Given the description of an element on the screen output the (x, y) to click on. 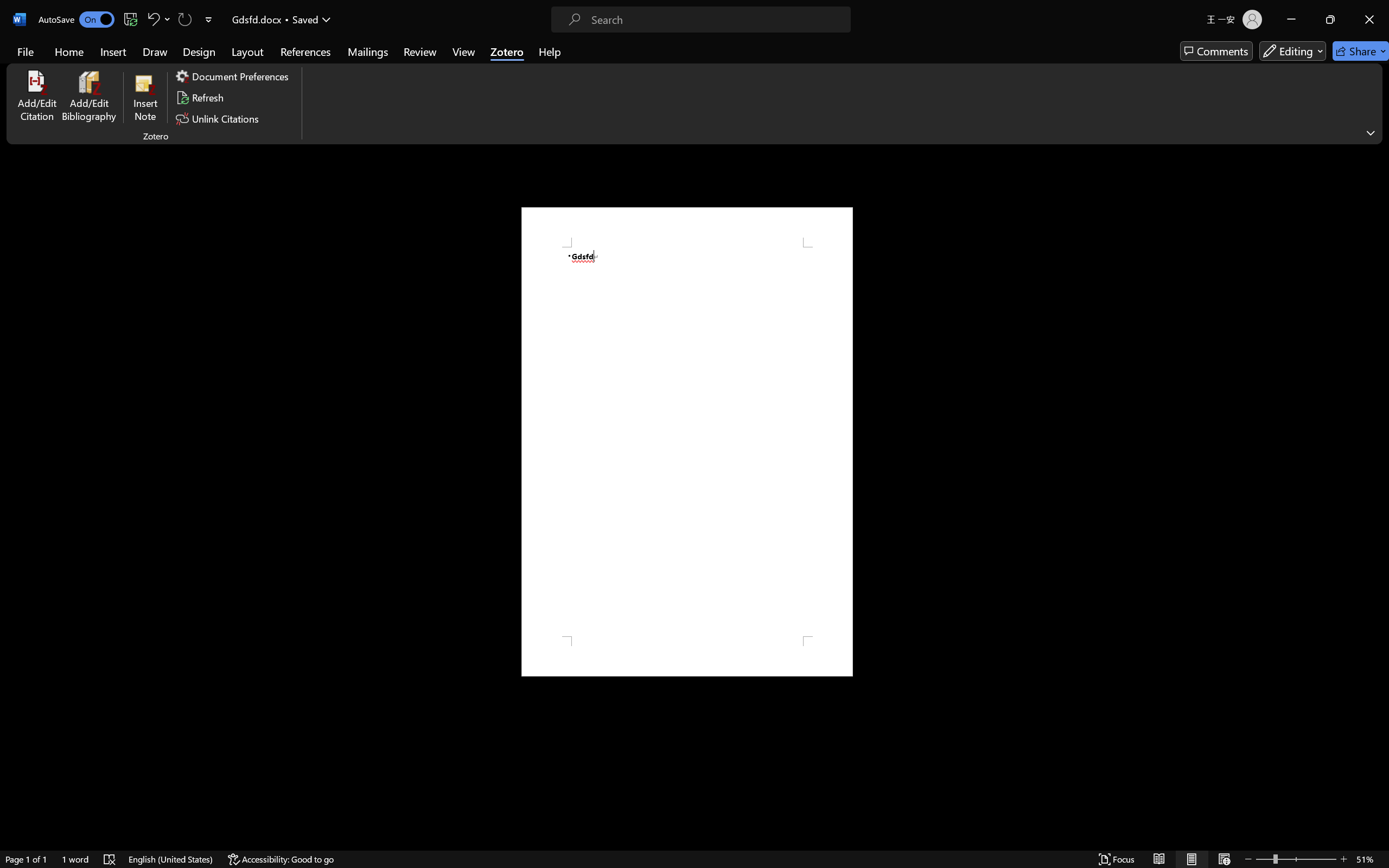
Page 1 content (686, 441)
